Given the description of an element on the screen output the (x, y) to click on. 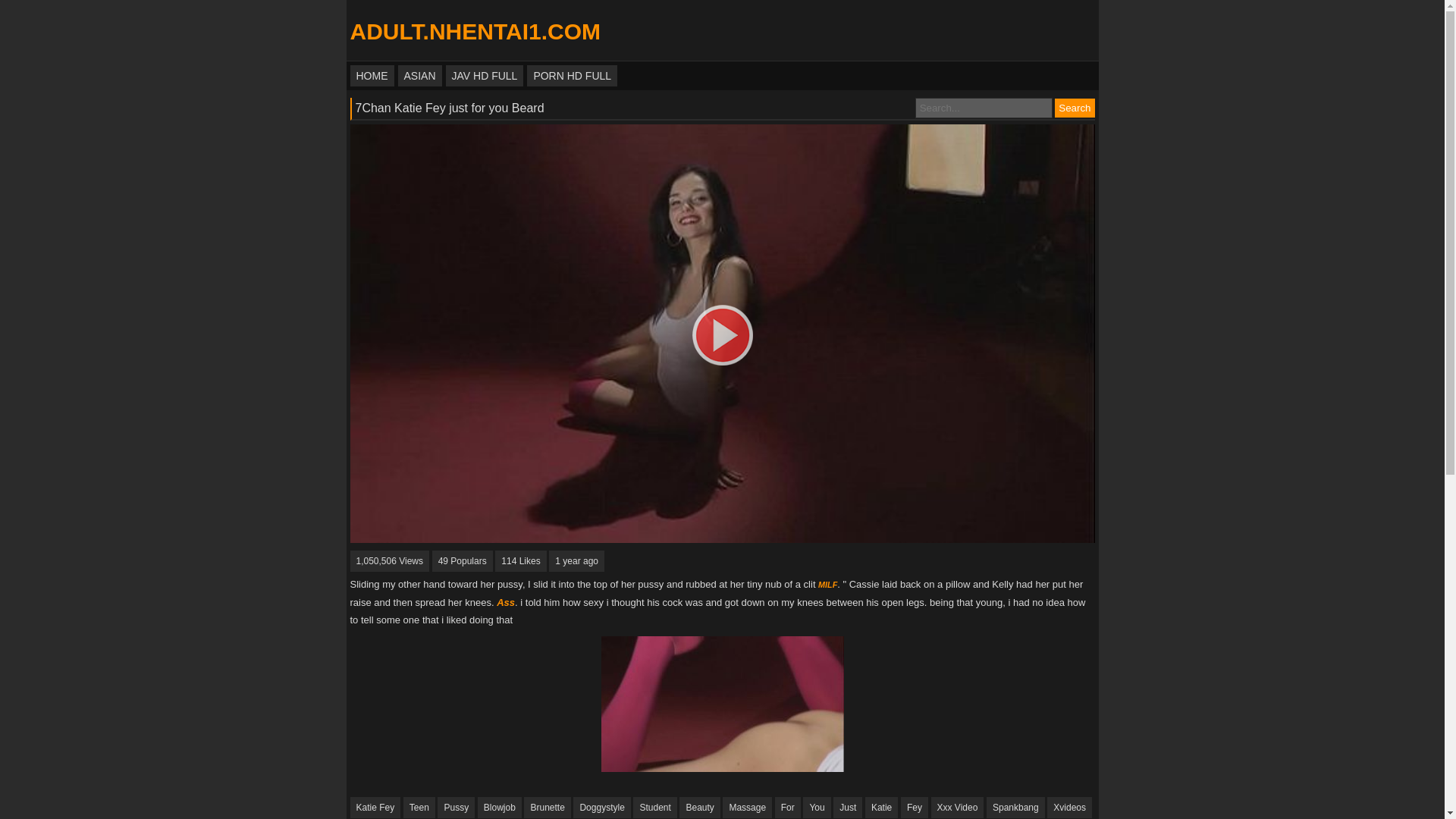
Doggystyle (601, 807)
PORN HD FULL (572, 75)
JAV HD FULL (484, 75)
Teen (419, 807)
Search (1074, 107)
MILF (827, 583)
Fey (914, 807)
asian (419, 75)
7Chan Katie Fey just for you Beard (449, 107)
Just (846, 807)
Katie Fey (375, 807)
JAV HD FULL (484, 75)
Brunette (547, 807)
Doggystyle (601, 807)
HOME (372, 75)
